Given the description of an element on the screen output the (x, y) to click on. 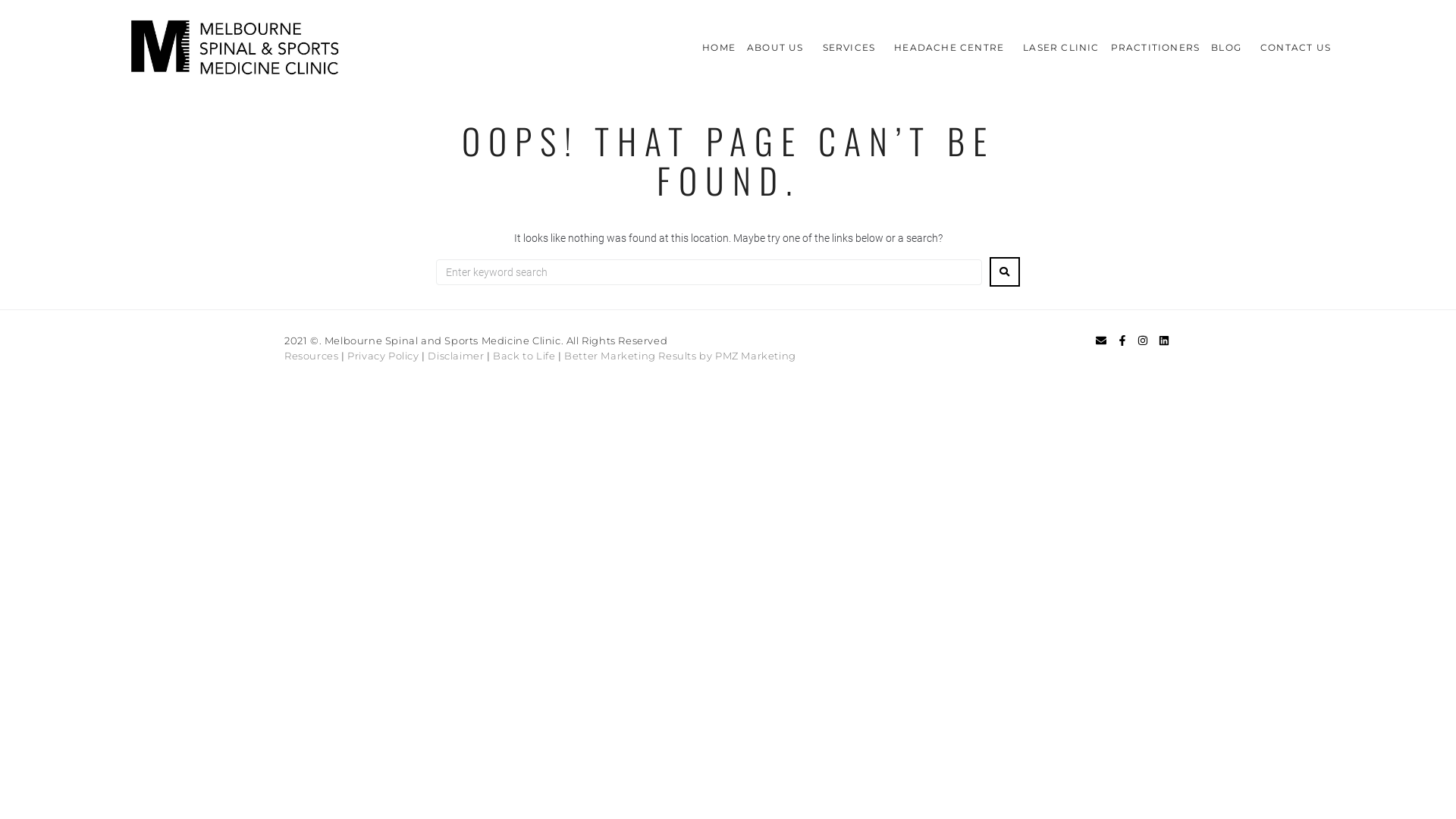
Resources Element type: text (311, 355)
ABOUT US Element type: text (778, 37)
BLOG Element type: text (1229, 37)
LASER CLINIC Element type: text (1060, 37)
CONTACT US Element type: text (1295, 37)
HOME Element type: text (718, 37)
Better Marketing Results by PMZ Marketing Element type: text (680, 355)
PRACTITIONERS Element type: text (1155, 37)
SERVICES Element type: text (852, 37)
Privacy Policy Element type: text (382, 355)
HEADACHE CENTRE Element type: text (952, 37)
Disclaimer Element type: text (455, 355)
Back to Life Element type: text (523, 355)
